Given the description of an element on the screen output the (x, y) to click on. 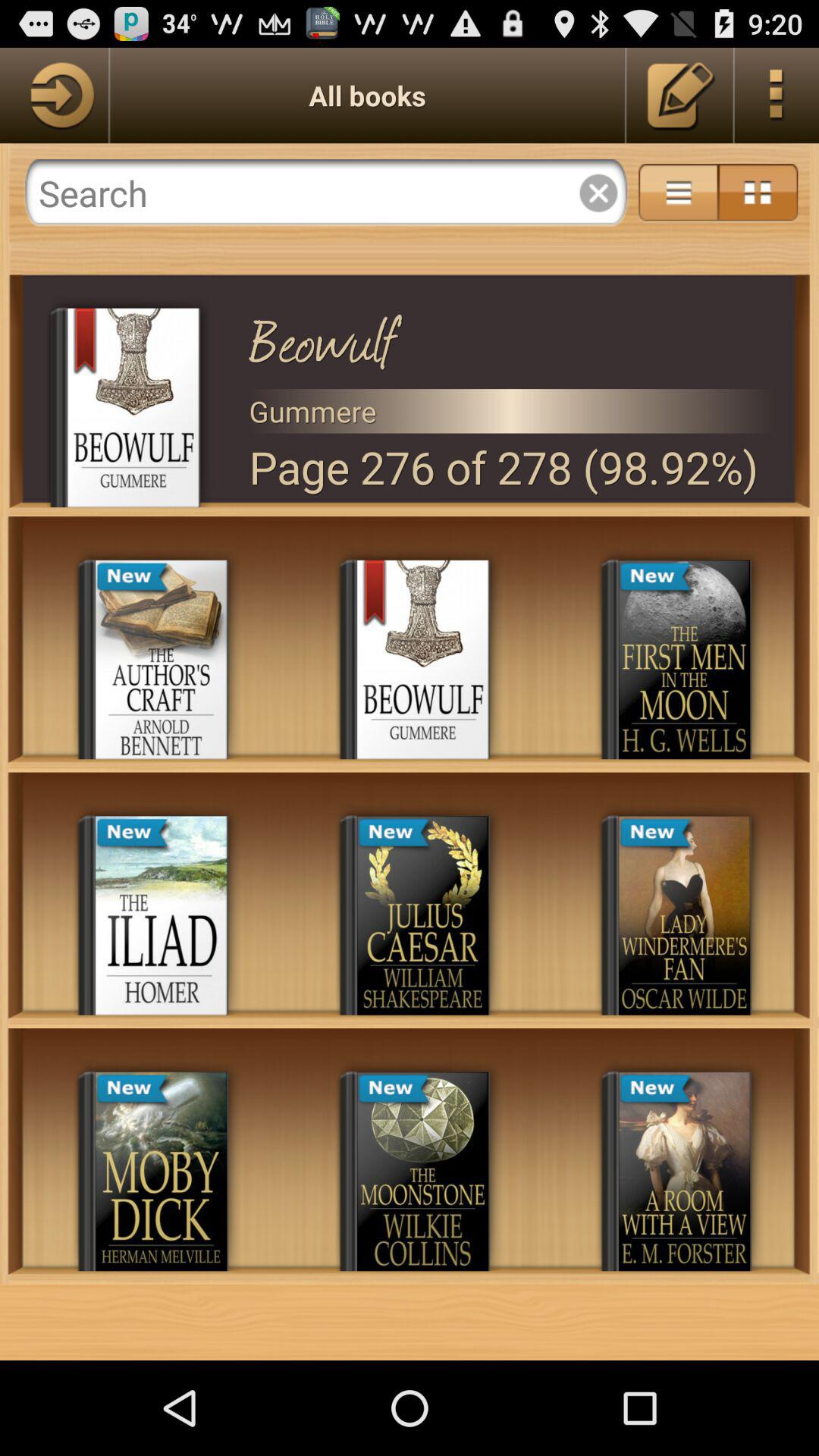
go back (54, 95)
